Given the description of an element on the screen output the (x, y) to click on. 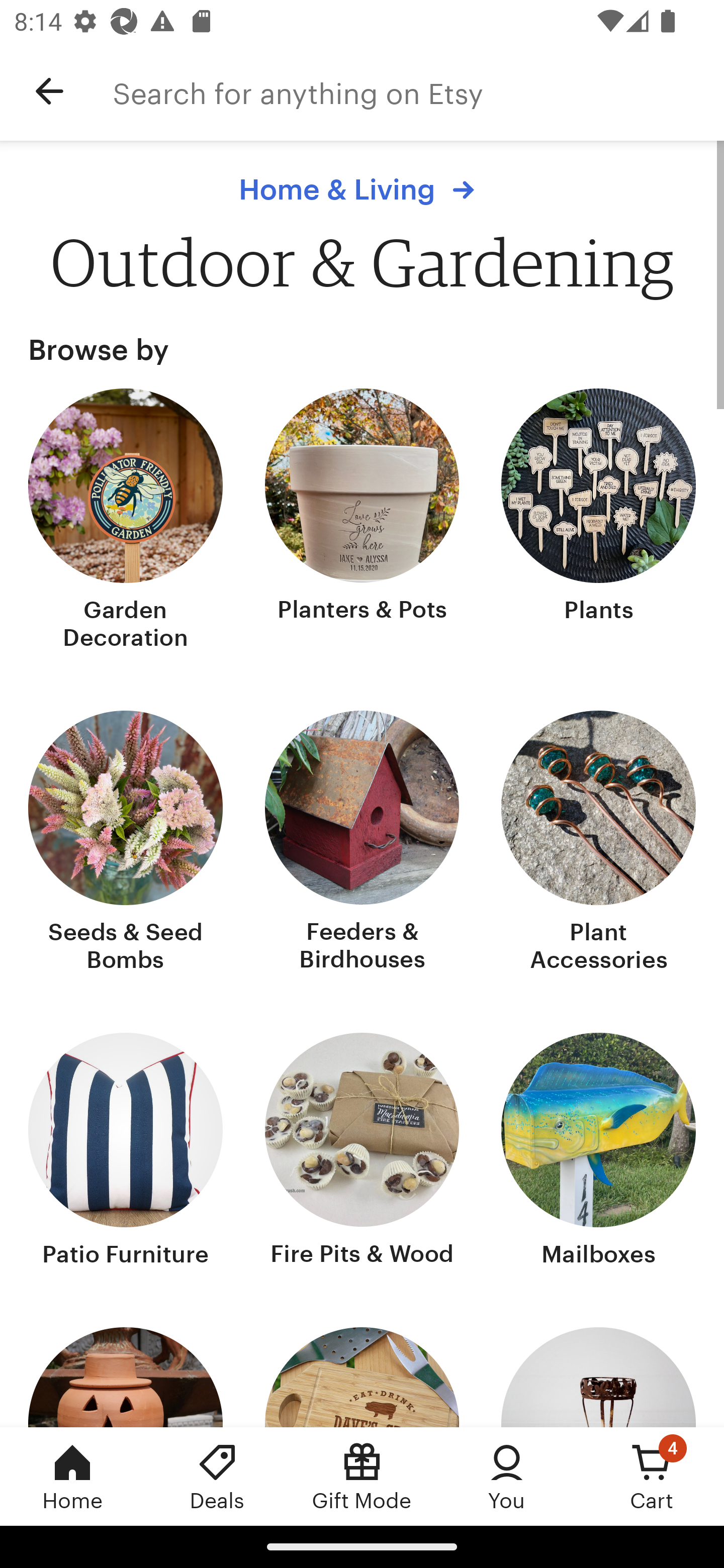
Navigate up (49, 91)
Search for anything on Etsy (418, 91)
Home & Living (361, 189)
Garden Decoration (125, 520)
Planters & Pots (361, 520)
Plants (598, 520)
Seeds & Seed Bombs (125, 843)
Feeders & Birdhouses (361, 843)
Plant Accessories (598, 843)
Patio Furniture (125, 1152)
Fire Pits & Wood (361, 1152)
Mailboxes (598, 1152)
Deals (216, 1475)
Gift Mode (361, 1475)
You (506, 1475)
Cart, 4 new notifications Cart (651, 1475)
